Given the description of an element on the screen output the (x, y) to click on. 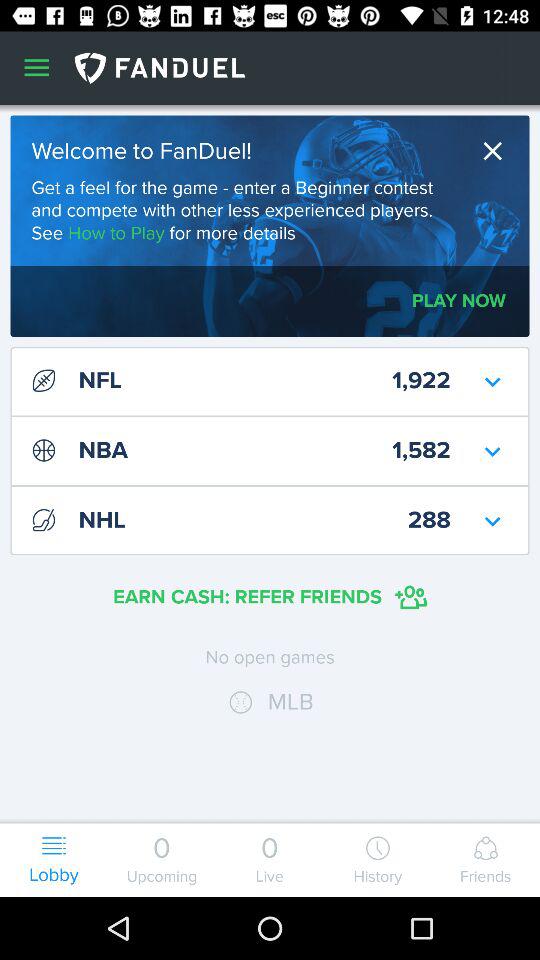
close window (498, 150)
